Given the description of an element on the screen output the (x, y) to click on. 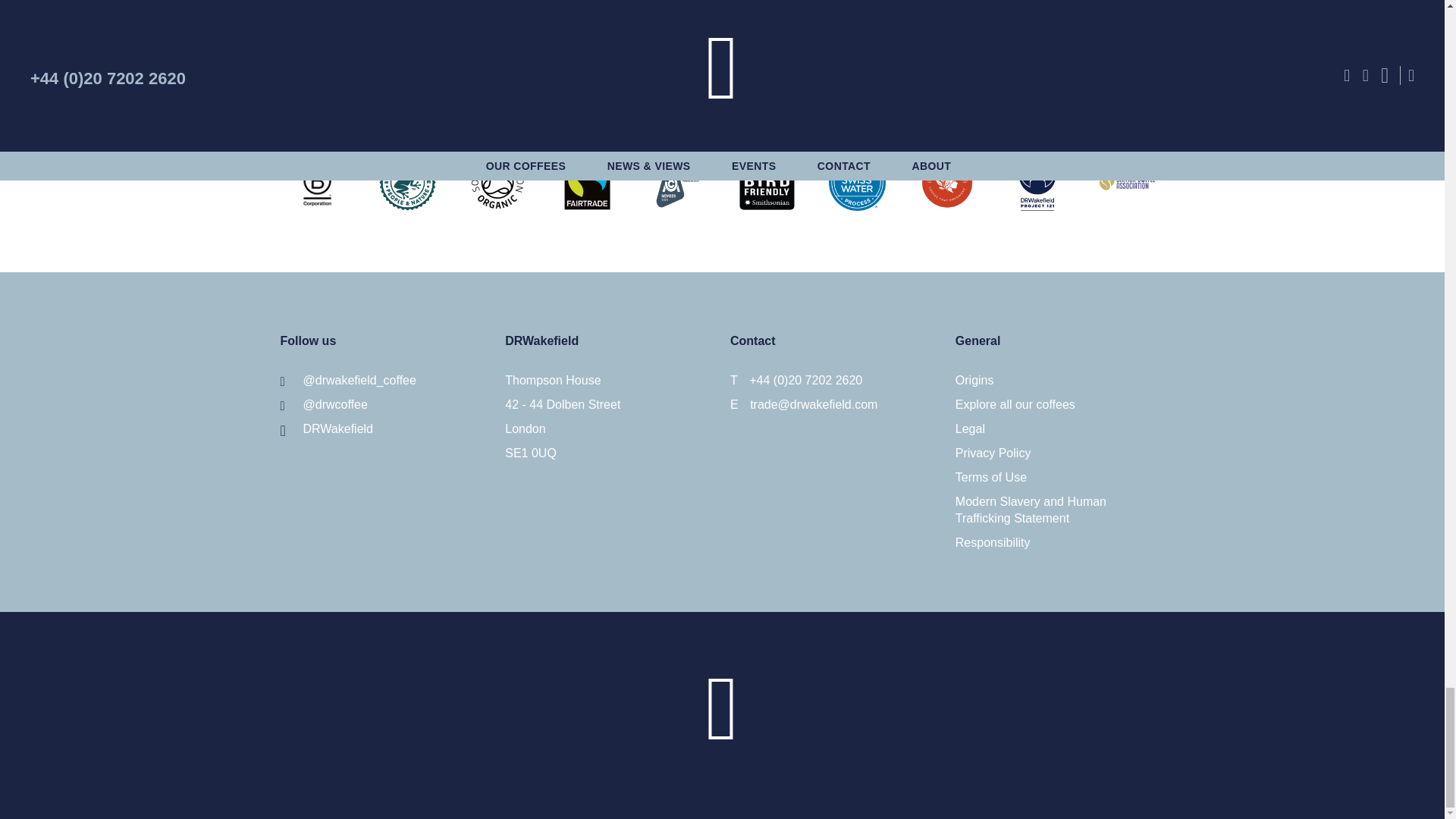
Subscribe (721, 20)
